Given the description of an element on the screen output the (x, y) to click on. 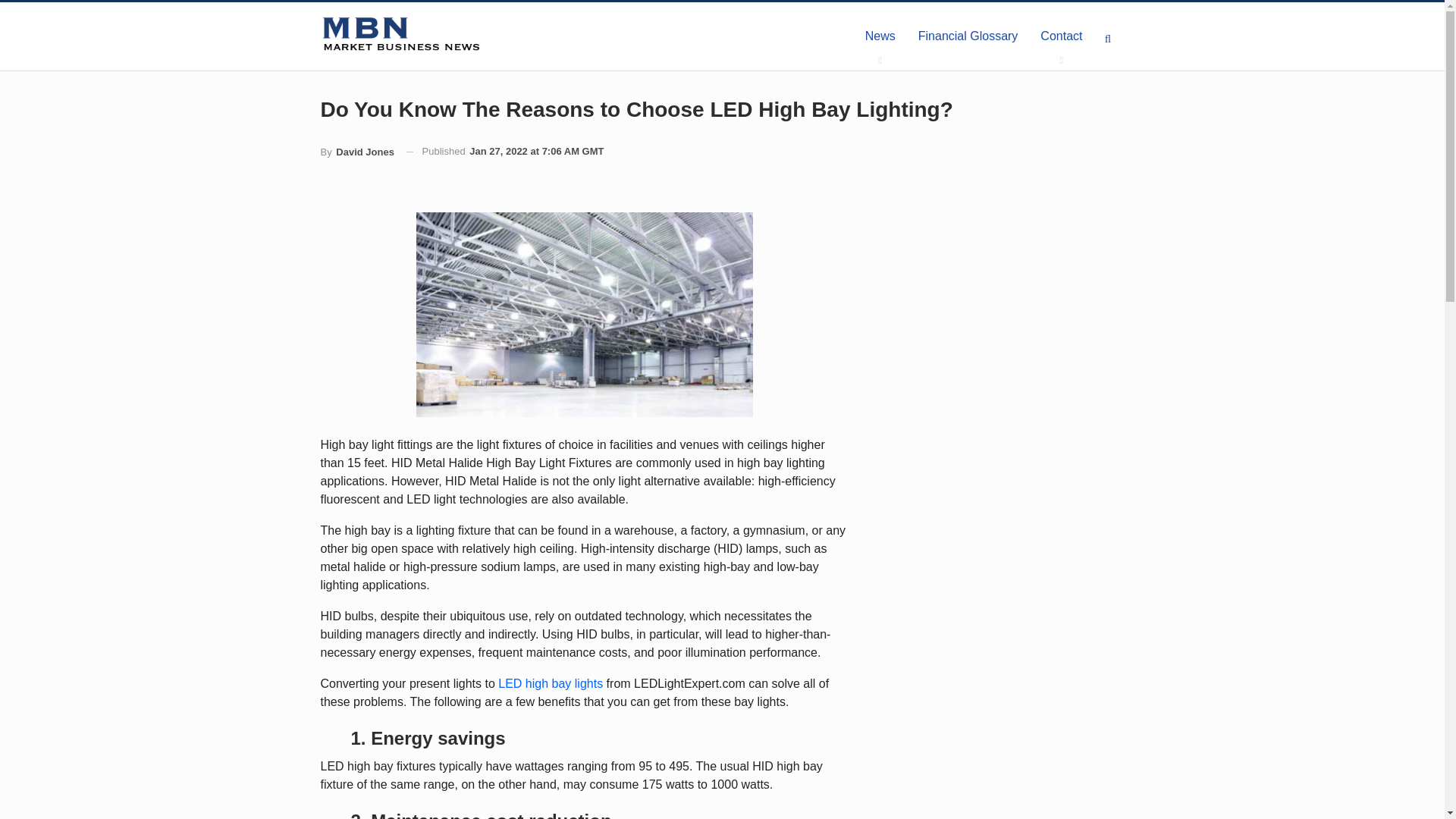
Financial Glossary (968, 36)
LED high bay lights (549, 683)
By David Jones (356, 152)
Contact (1061, 36)
Browse Author Articles (356, 152)
